Given the description of an element on the screen output the (x, y) to click on. 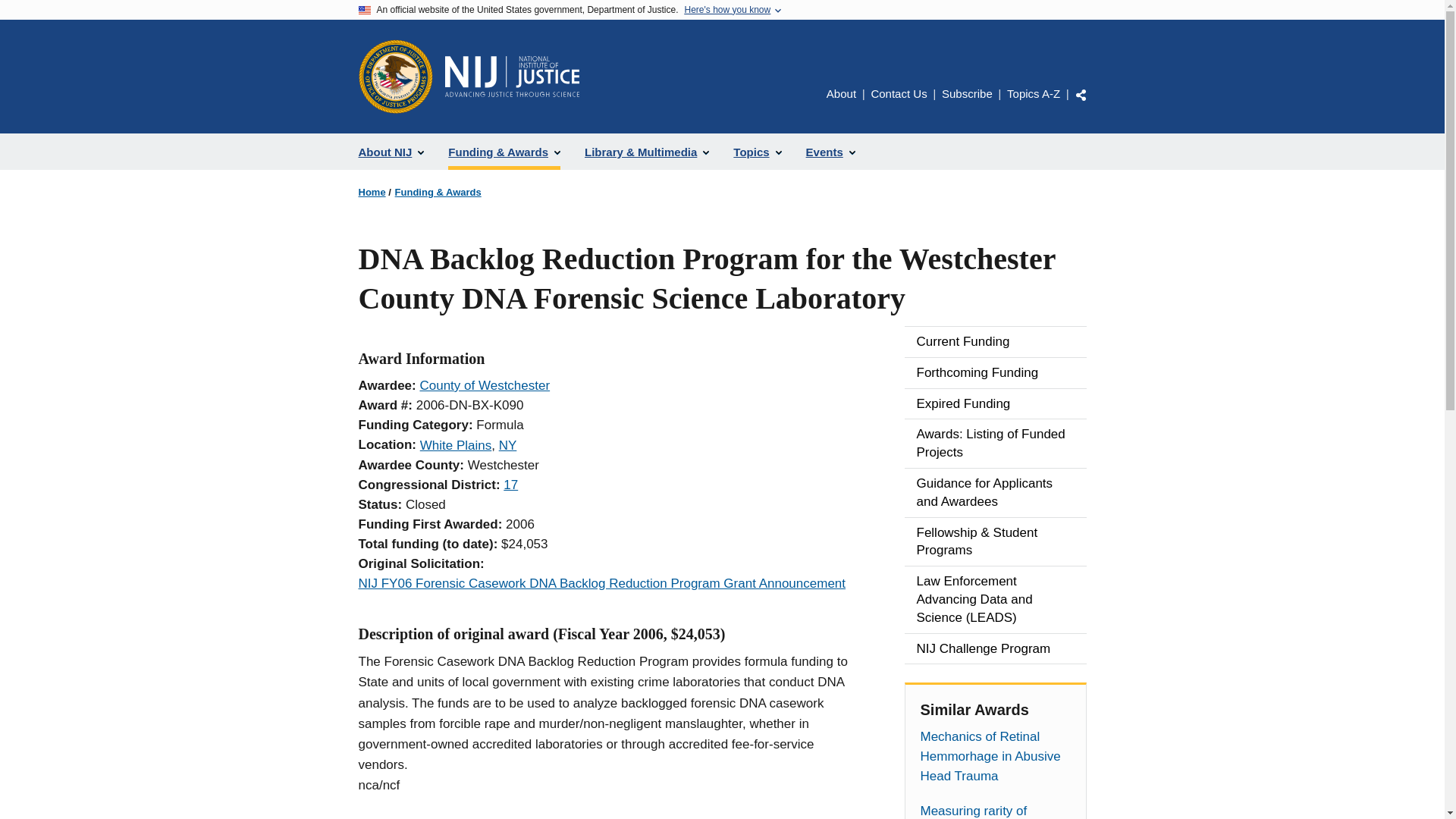
County of Westchester (484, 385)
Topics A-Z (1033, 93)
Guidance for Applicants and Awardees (995, 492)
Contact Us (898, 93)
Mechanics of Retinal Hemmorhage in Abusive Head Trauma (995, 756)
Events (830, 151)
Share (1080, 94)
Forthcoming Funding (995, 372)
